Given the description of an element on the screen output the (x, y) to click on. 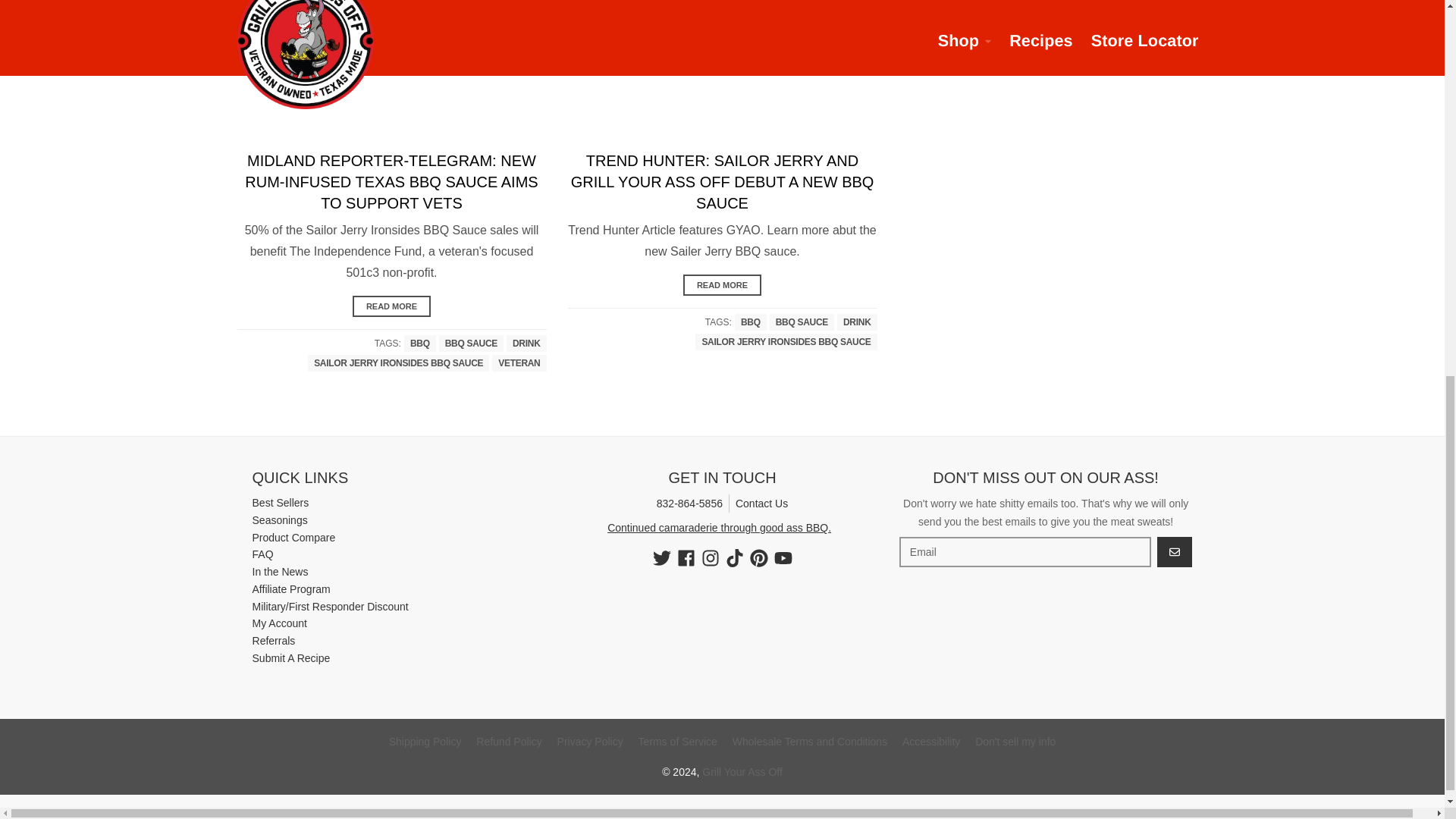
Facebook - Grill Your Ass Off (685, 557)
Pinterest - Grill Your Ass Off (758, 557)
Instagram - Grill Your Ass Off (709, 557)
TikTok - Grill Your Ass Off (733, 557)
Twitter - Grill Your Ass Off (660, 557)
YouTube - Grill Your Ass Off (782, 557)
About Us (719, 527)
